Given the description of an element on the screen output the (x, y) to click on. 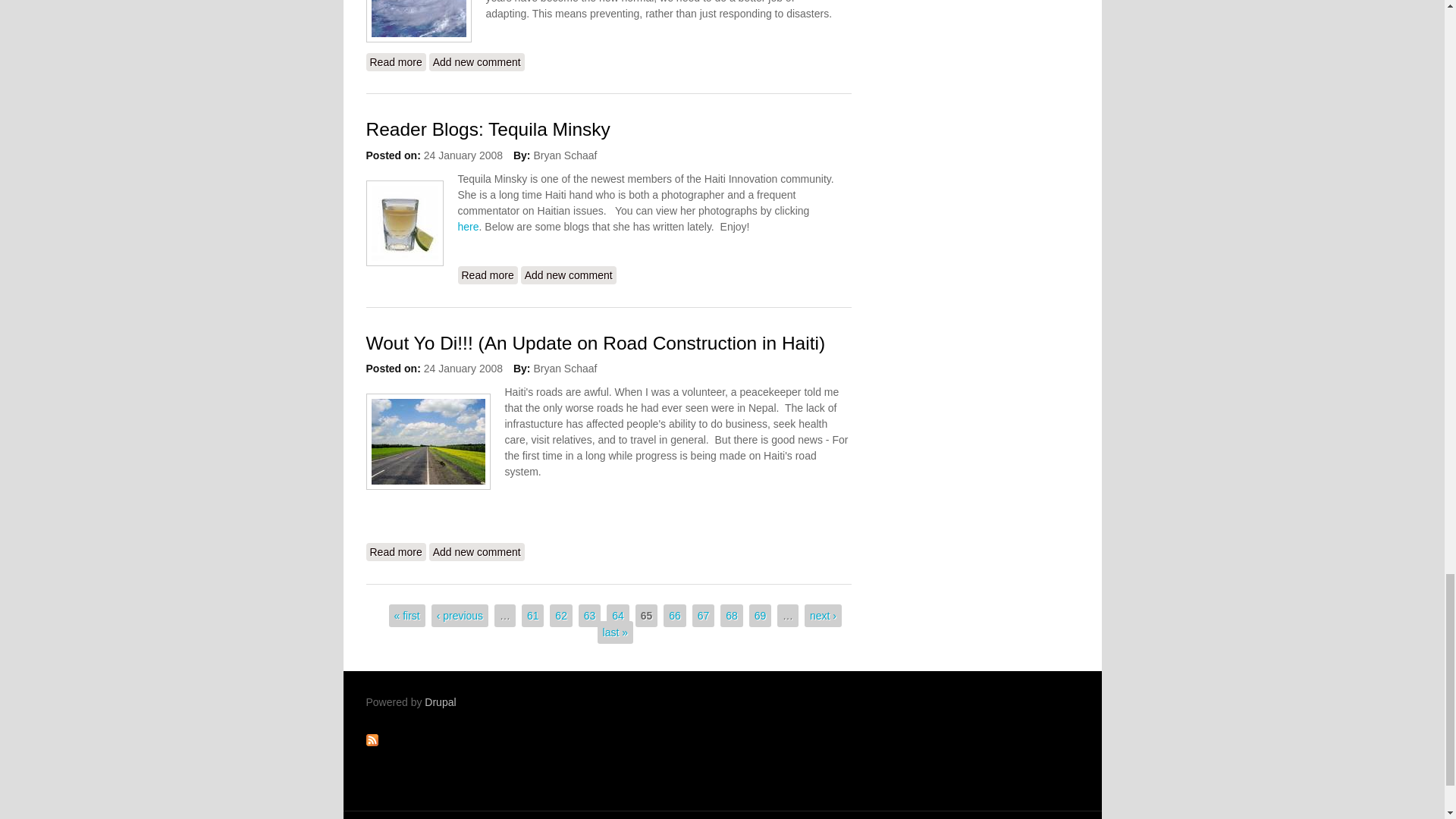
Add a new comment to this page. (476, 62)
Reader Blogs: Tequila Minsky (487, 128)
Add new comment (476, 62)
Add new comment (476, 551)
Add new comment (568, 275)
Red Cross says Changing Climate Worsens Disasters (395, 62)
here (488, 275)
Reader Blogs:  Tequila Minsky (468, 226)
